Given the description of an element on the screen output the (x, y) to click on. 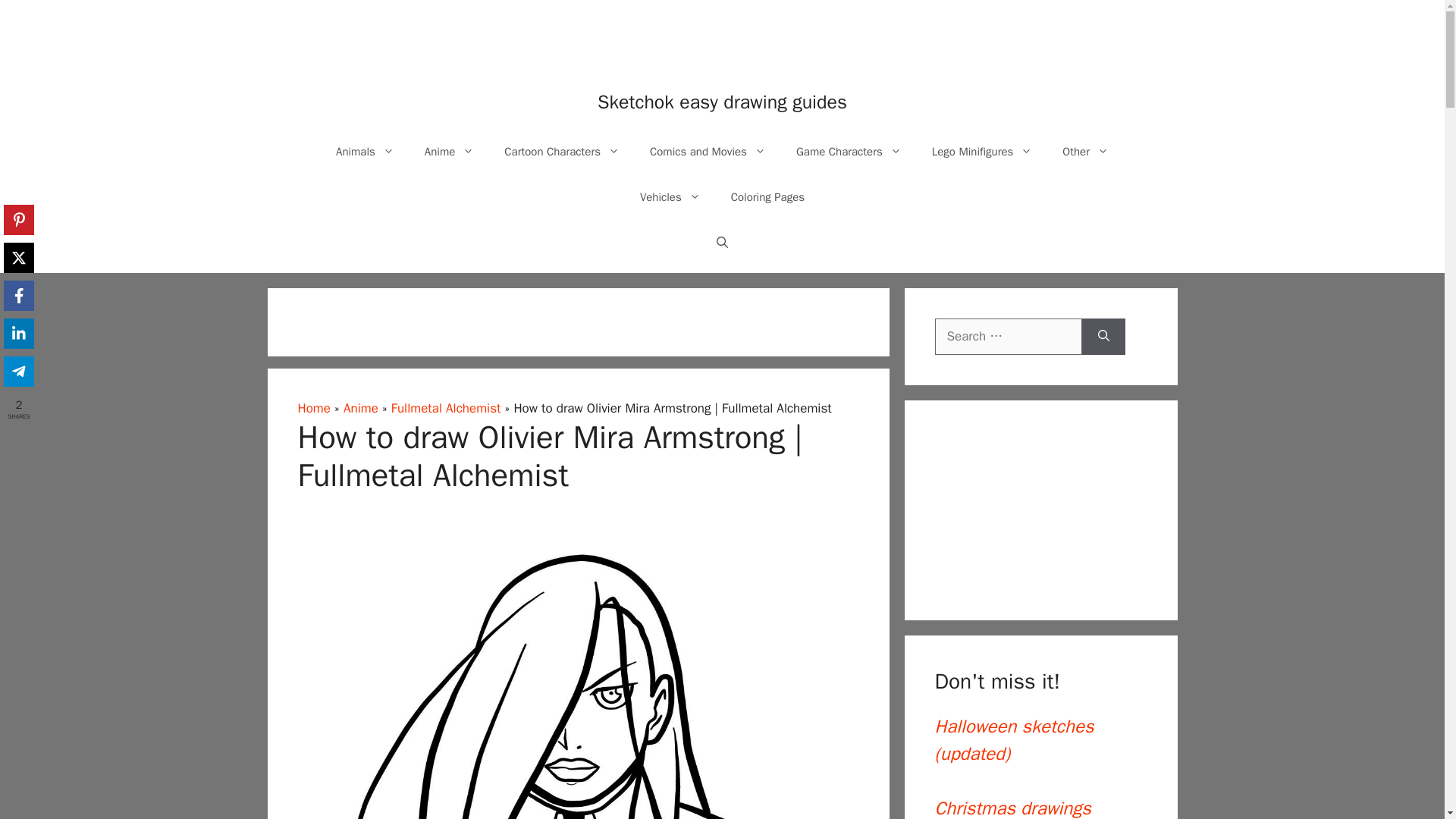
Anime (449, 151)
Sketchok easy drawing guides (721, 101)
Search for: (1007, 336)
Animals (364, 151)
